Given the description of an element on the screen output the (x, y) to click on. 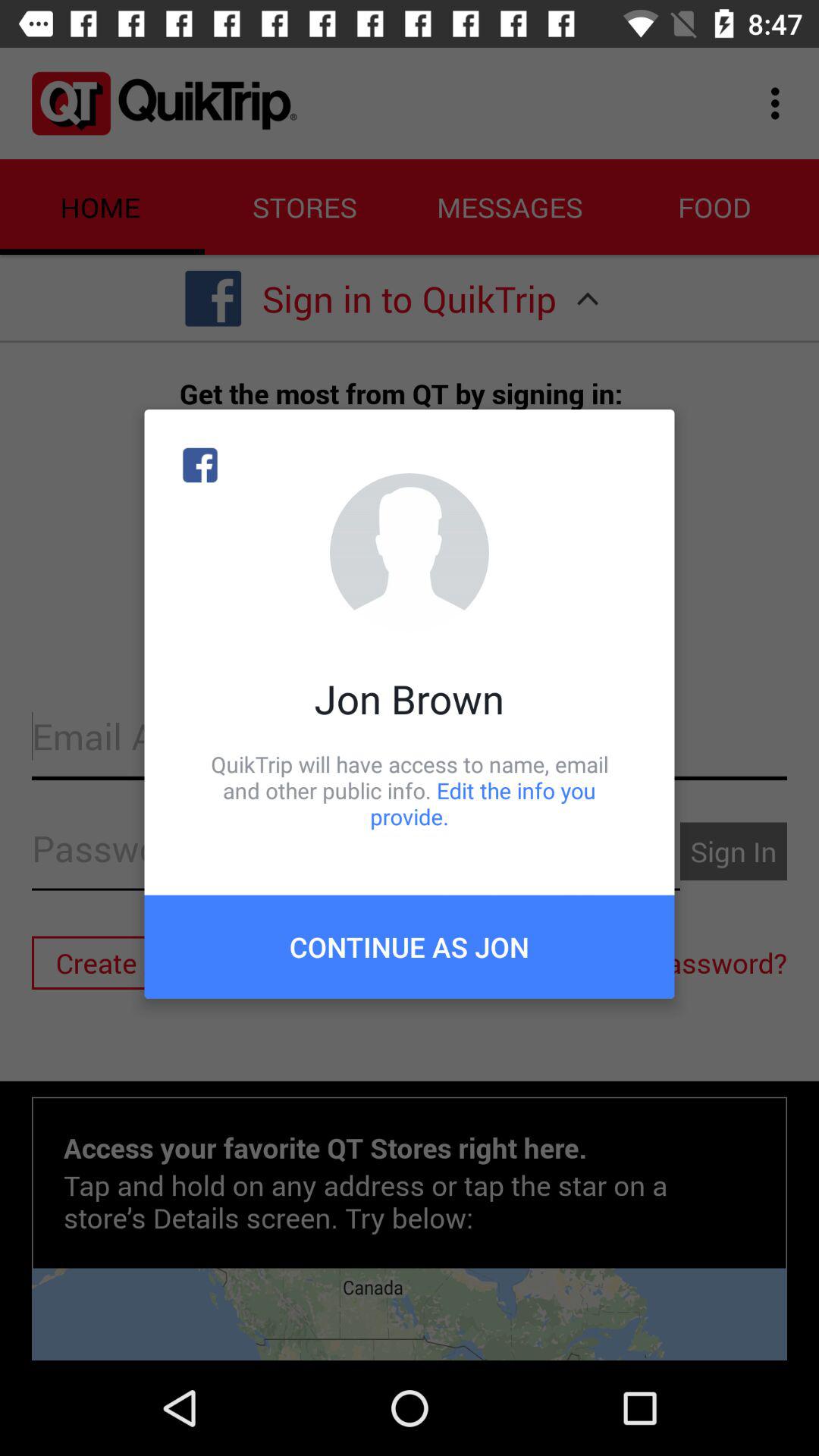
choose item below the quiktrip will have item (409, 946)
